Given the description of an element on the screen output the (x, y) to click on. 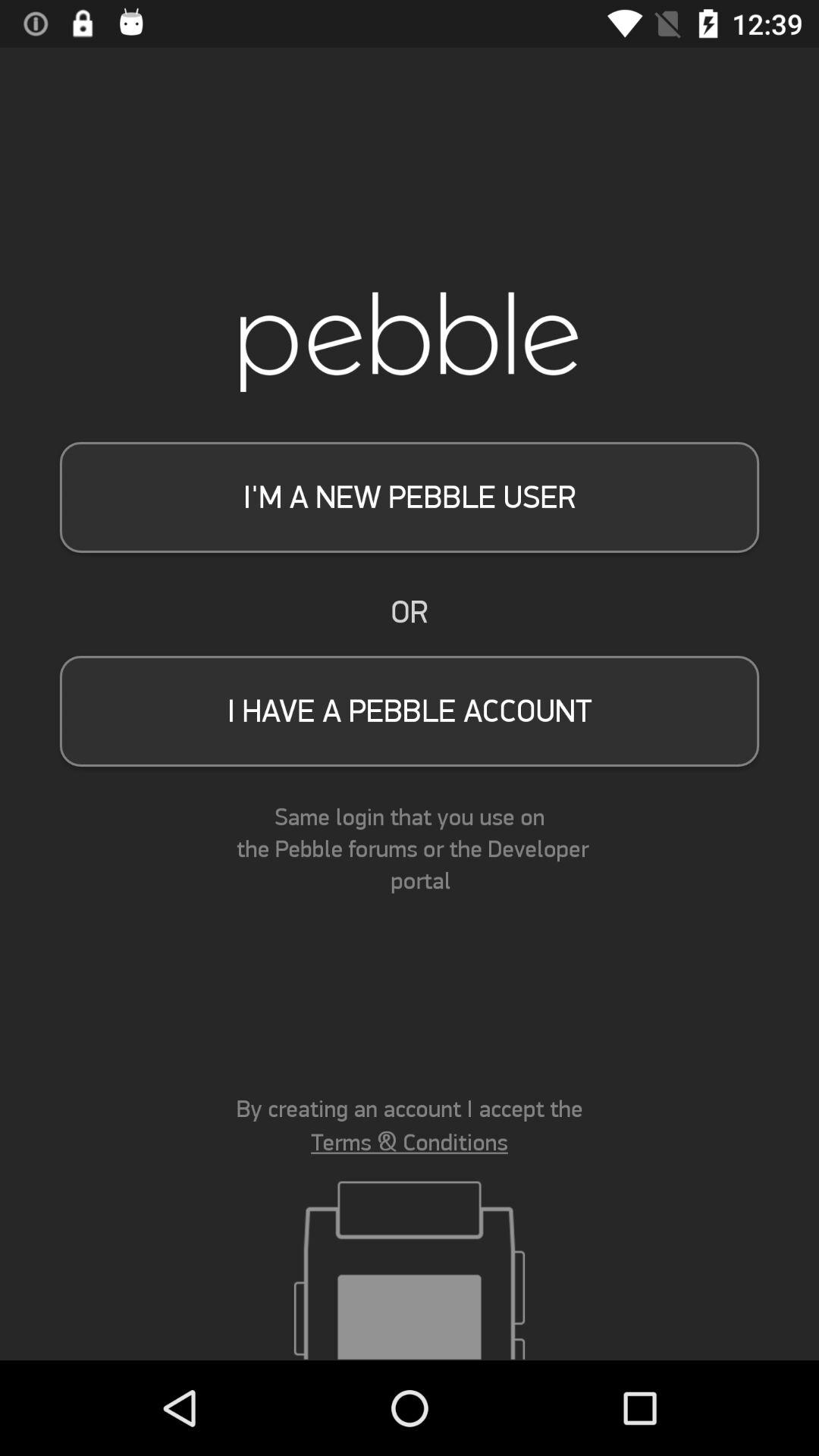
launch the icon below by creating an (409, 1142)
